Given the description of an element on the screen output the (x, y) to click on. 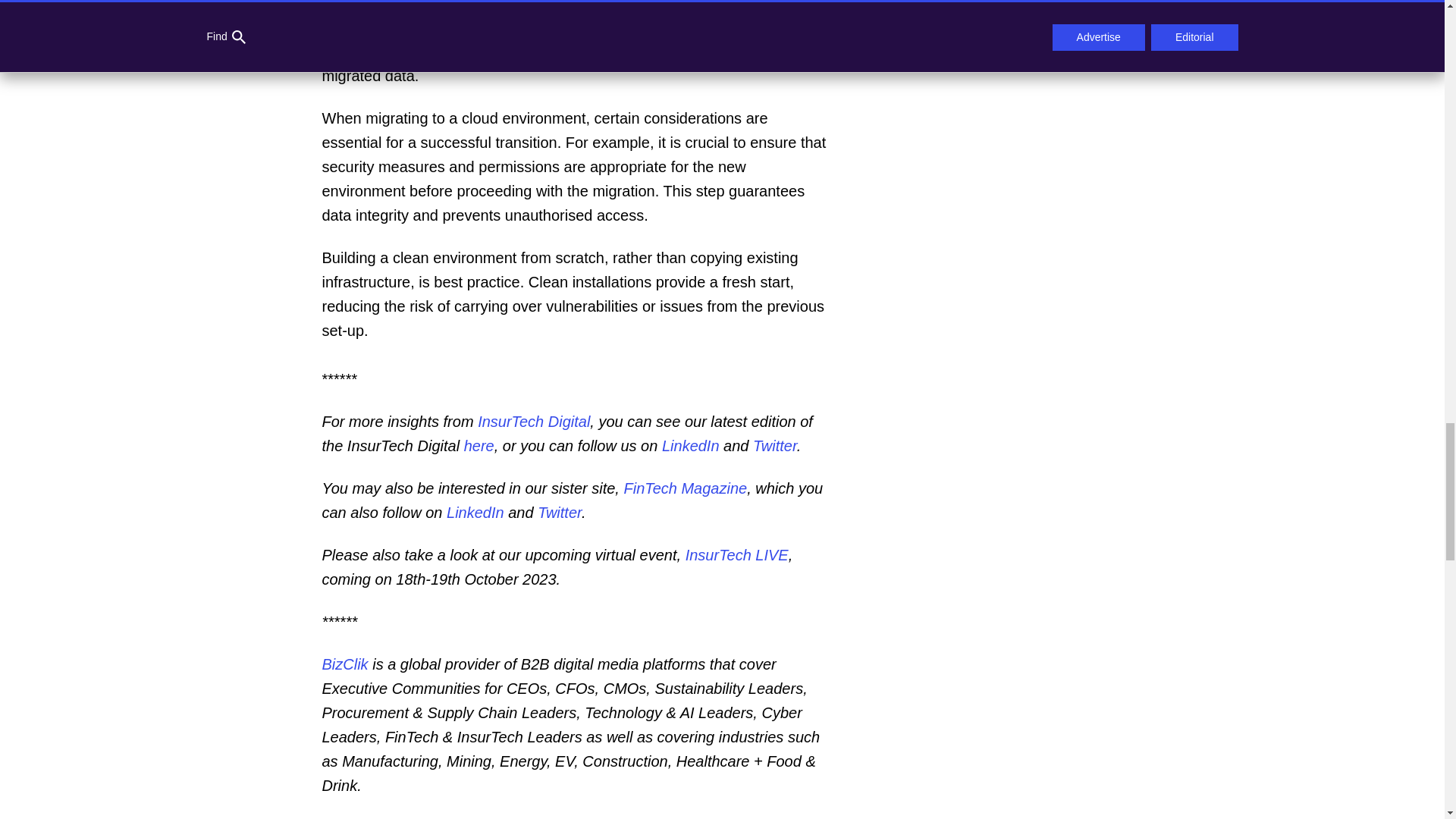
LinkedIn (472, 512)
Twitter (557, 512)
Twitter (774, 445)
InsurTech LIVE (735, 555)
LinkedIn (688, 445)
InsurTech Digital (532, 421)
here (477, 445)
BizClik (344, 664)
FinTech Magazine (683, 487)
